Given the description of an element on the screen output the (x, y) to click on. 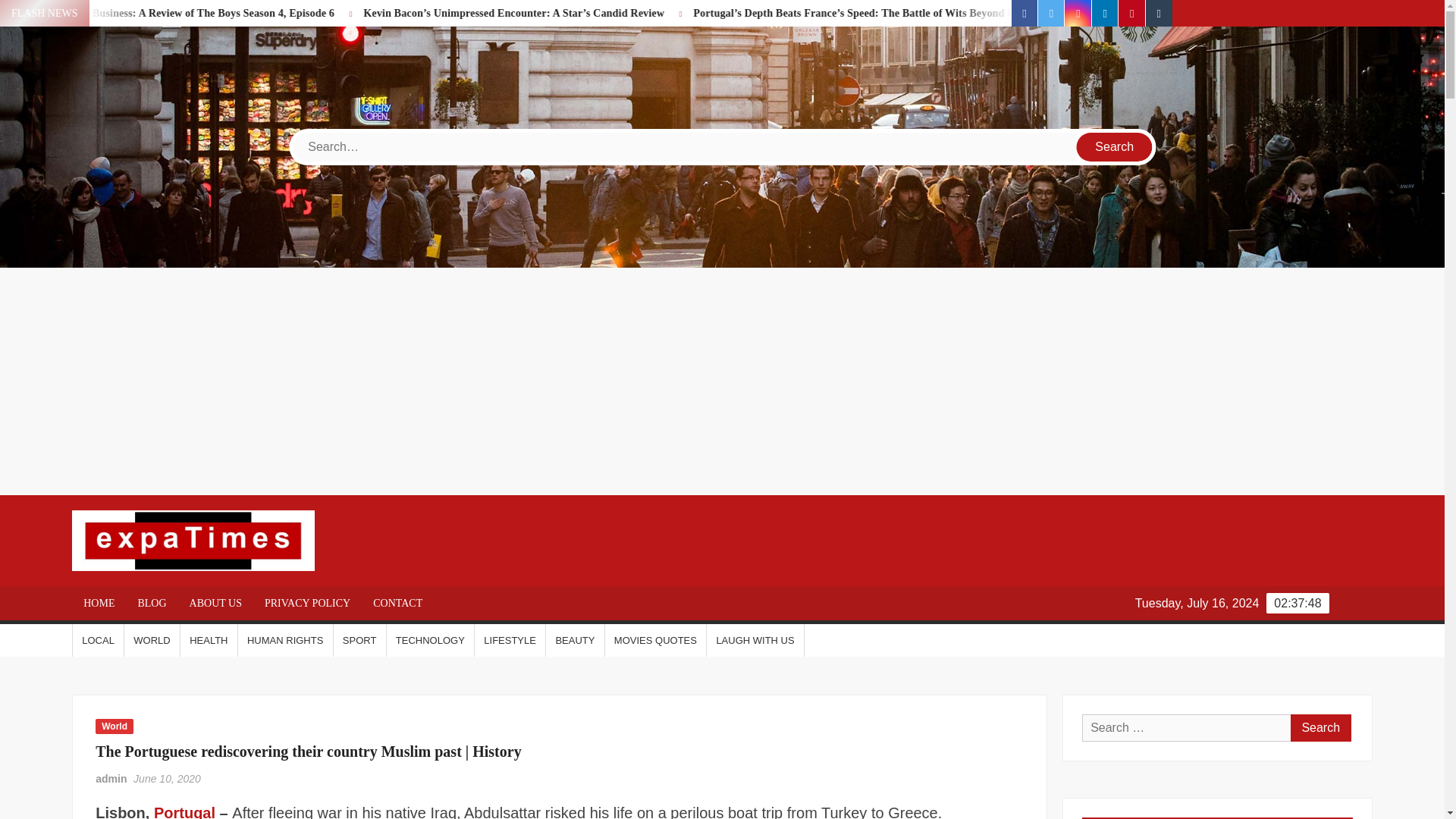
Search (1320, 728)
Suspected shooter at Trump rally reportedly killed (104, 12)
Dirty Business: A Review of The Boys Season 4, Episode 6 (328, 12)
Suspected shooter at Trump rally reportedly killed (83, 12)
Search (1115, 146)
Search (1320, 728)
Search (1115, 146)
Dirty Business: A Review of The Boys Season 4, Episode 6 (371, 12)
